Given the description of an element on the screen output the (x, y) to click on. 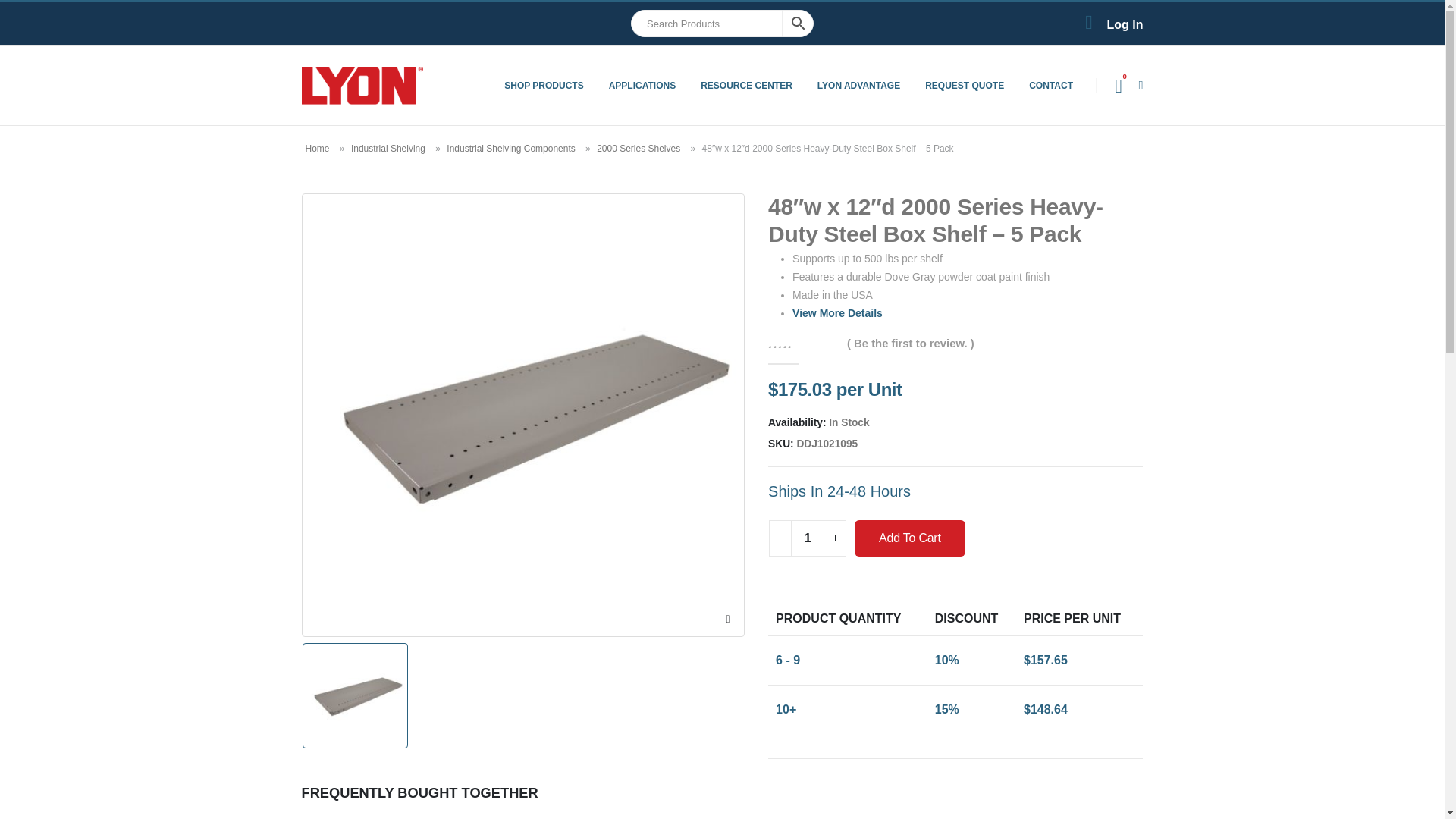
1 (807, 538)
Log In (1109, 23)
lyon 2000 series component box shelf 12 in deep (354, 696)
My Account (1109, 23)
Lyon - Everything in it's place so you can keep on working (362, 85)
SHOP PRODUCTS (543, 85)
